Given the description of an element on the screen output the (x, y) to click on. 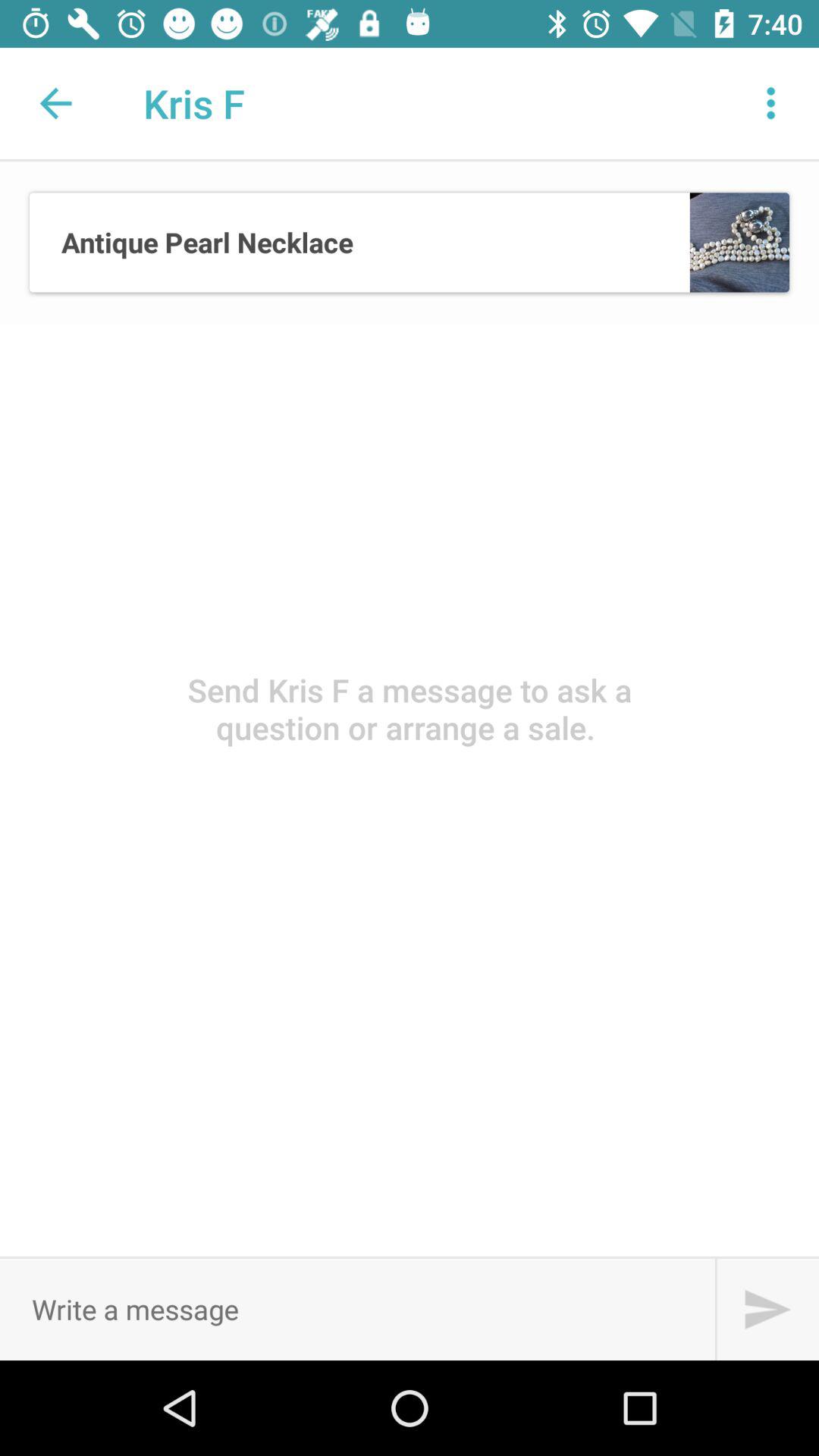
launch the icon next to the kris f app (55, 103)
